Given the description of an element on the screen output the (x, y) to click on. 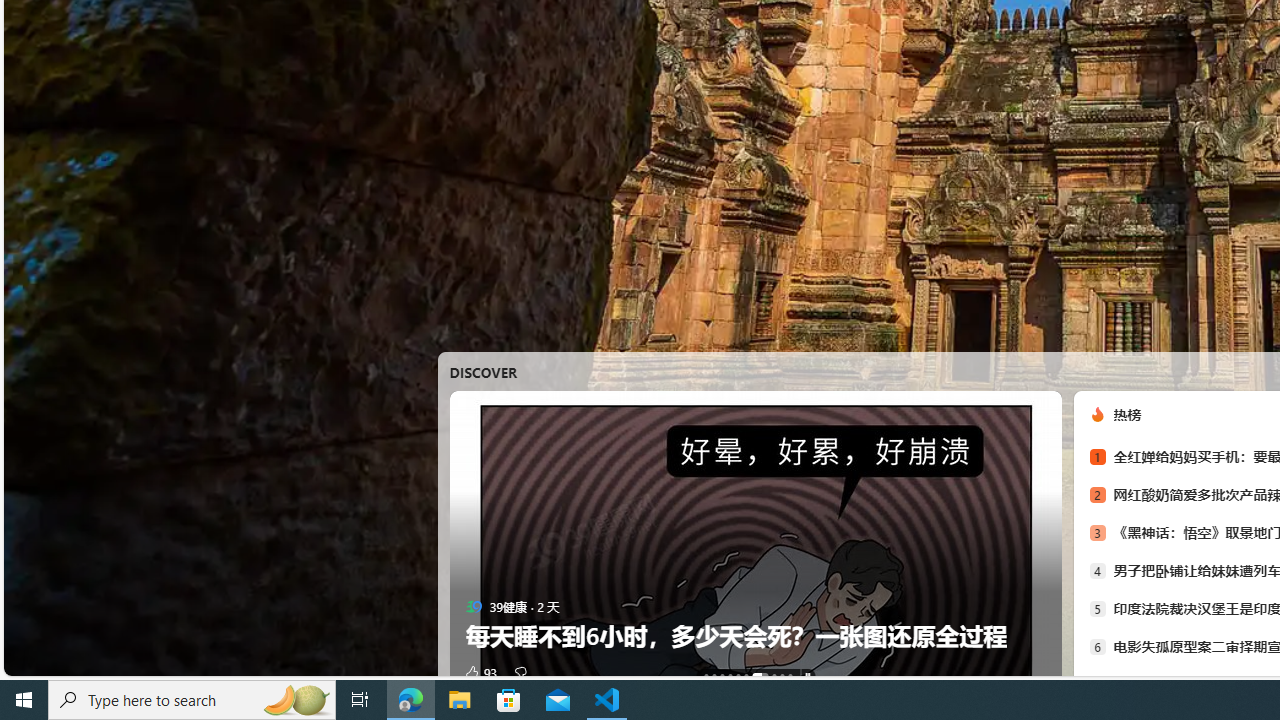
AutomationID: tab-0 (705, 675)
